Given the description of an element on the screen output the (x, y) to click on. 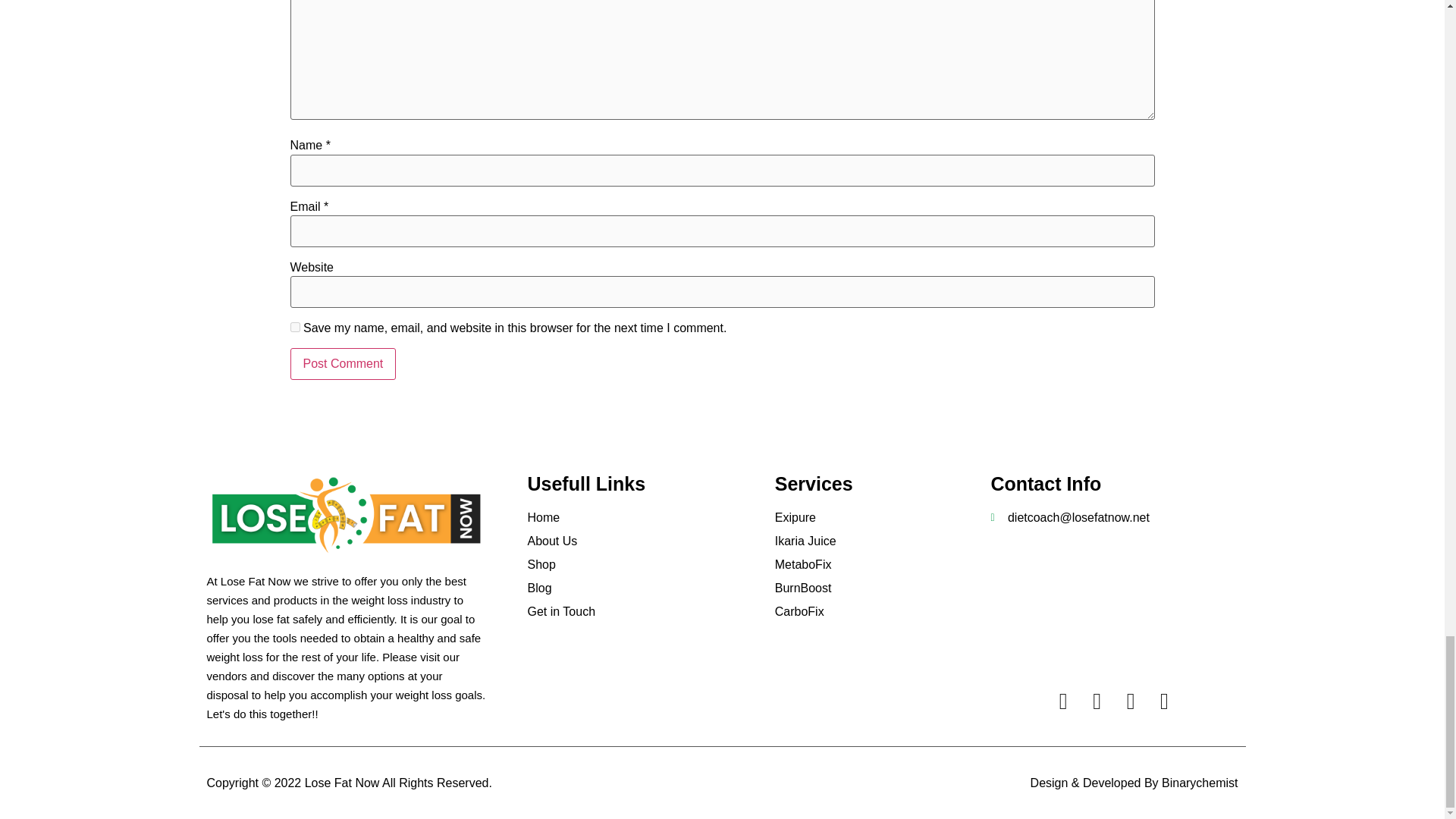
Exipure (874, 516)
Post Comment (342, 364)
About Us (634, 541)
Shop (634, 564)
CarboFix (874, 610)
MetaboFix (874, 564)
Home (634, 516)
yes (294, 327)
California (1113, 605)
Blog (634, 588)
BurnBoost (874, 588)
Get in Touch (634, 610)
Ikaria Juice (874, 541)
Post Comment (342, 364)
